Given the description of an element on the screen output the (x, y) to click on. 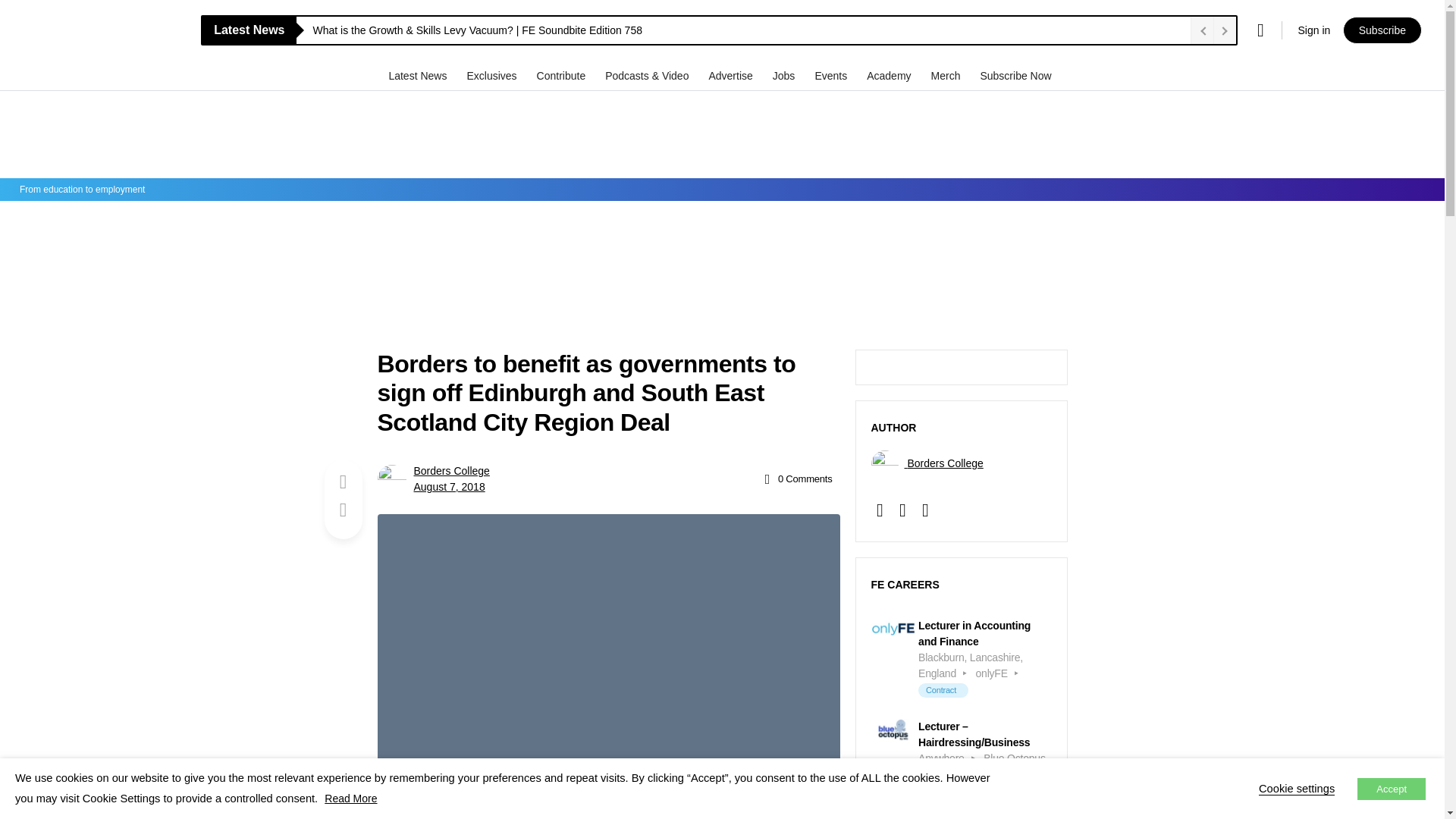
Exclusives (493, 75)
Sign in (1313, 30)
Latest News (419, 75)
Subscribe (1382, 30)
